Given the description of an element on the screen output the (x, y) to click on. 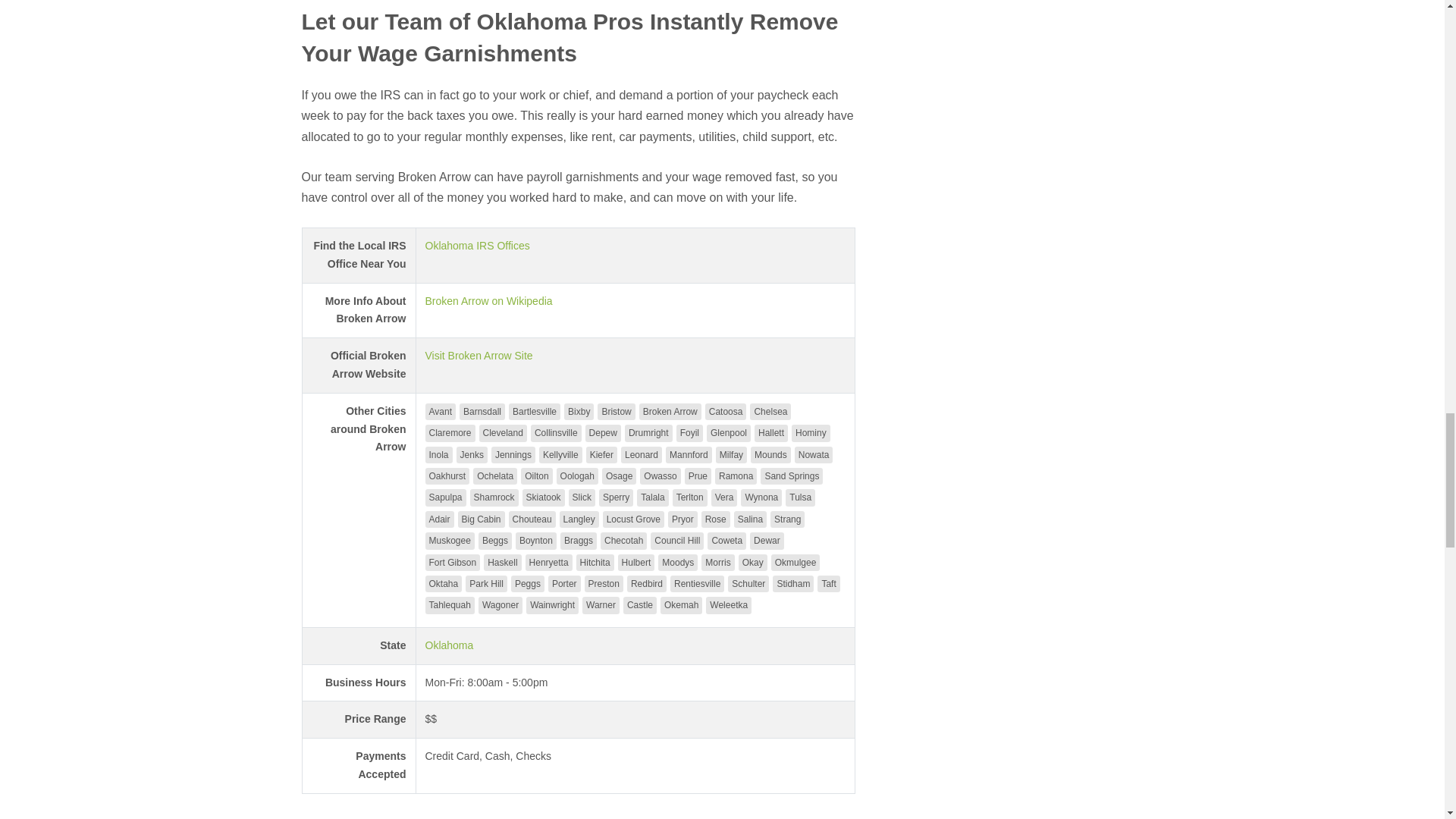
Official Broken Arrow Website (478, 355)
Learn More about Broken Arrow on Wikipedia (488, 300)
Oklahoma (449, 645)
Find IRS Offices in Oklahoma (477, 245)
